Given the description of an element on the screen output the (x, y) to click on. 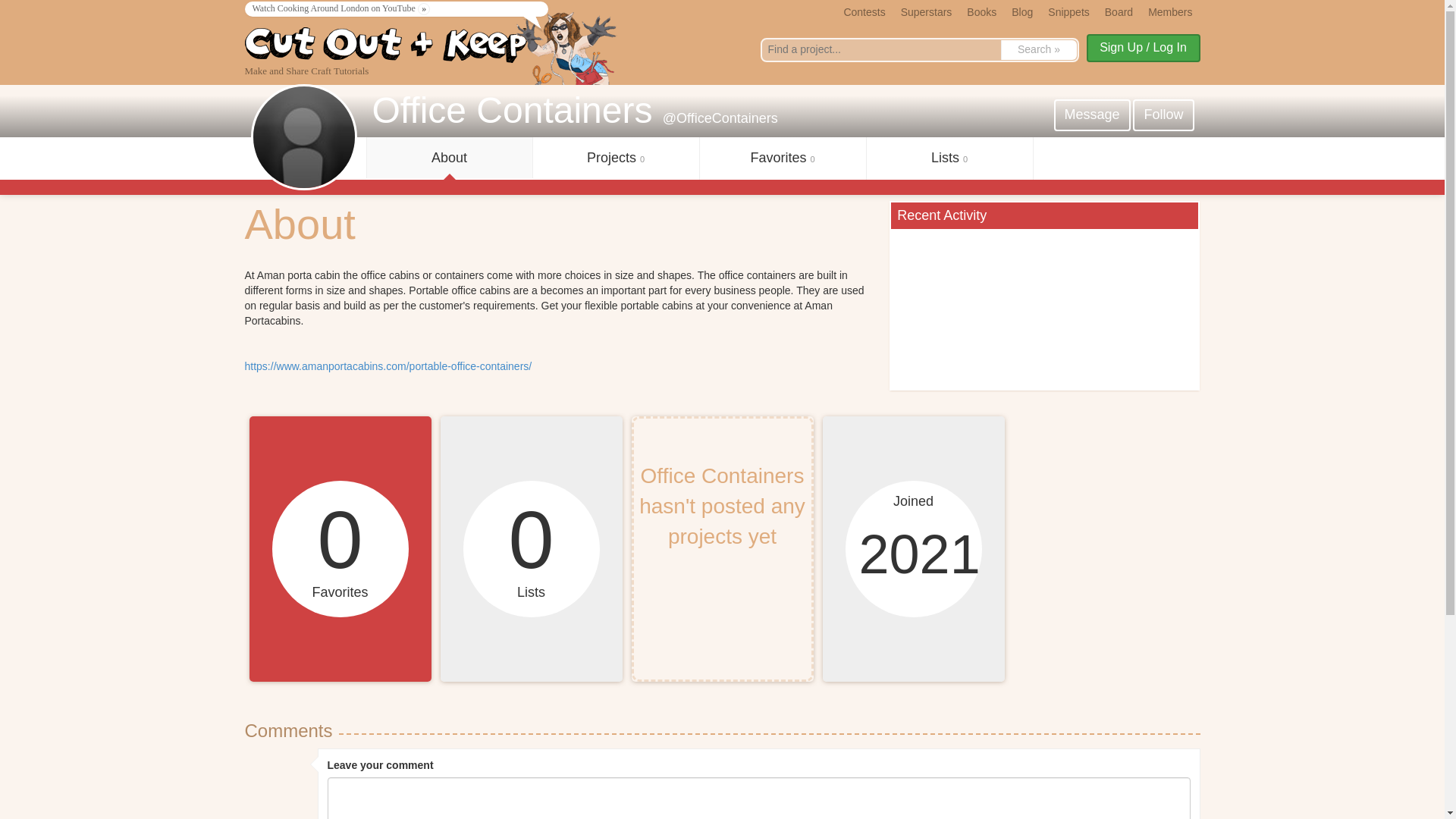
Members (1169, 10)
Contests (863, 10)
Blog (1022, 10)
About (449, 157)
Message (1092, 115)
Projects 0 (615, 158)
Snippets (1068, 10)
Favorites 0 (781, 158)
Follow (1162, 115)
Books (981, 10)
